Given the description of an element on the screen output the (x, y) to click on. 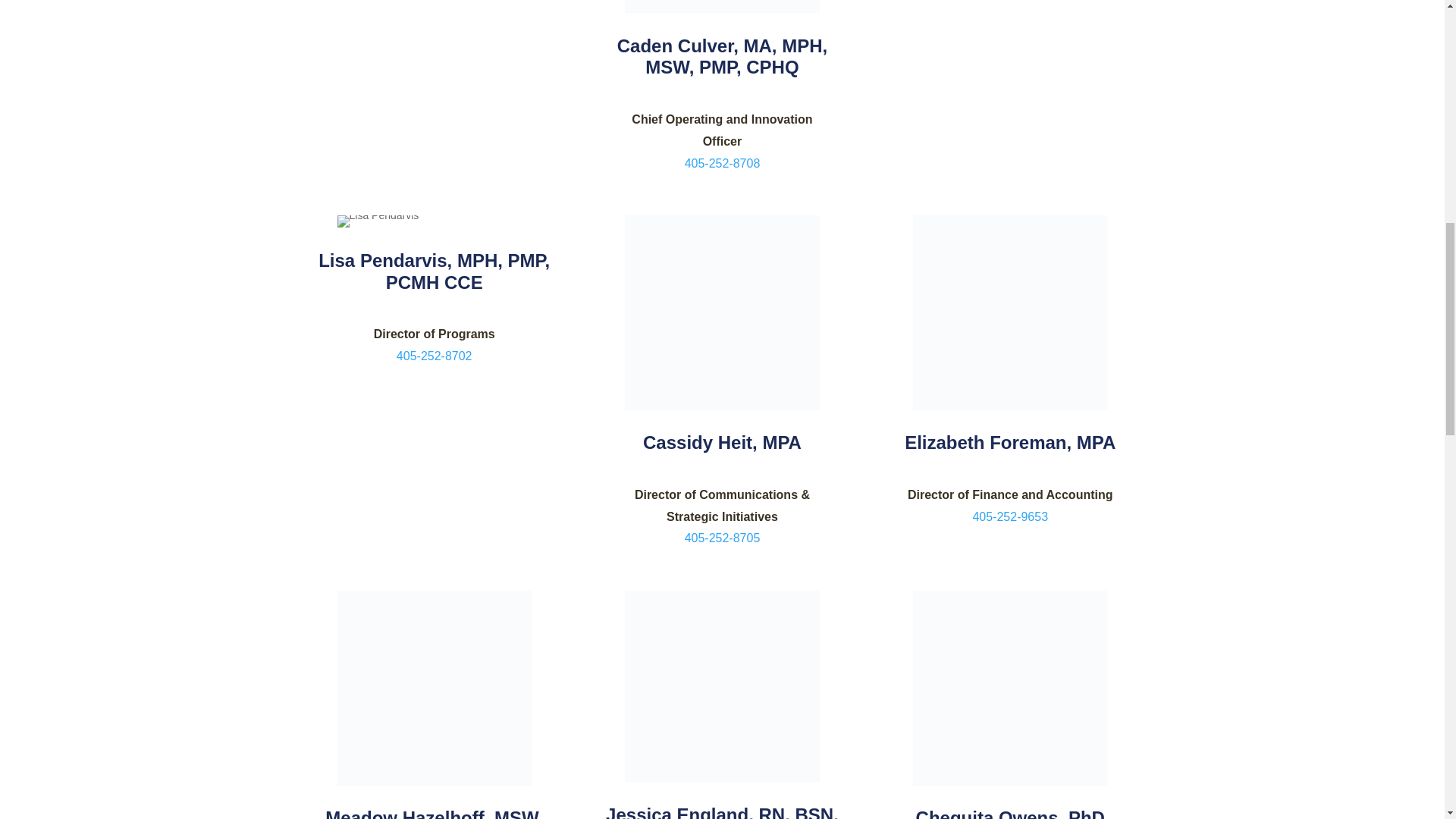
Meadow-Hazelhoff (434, 687)
Jessica England, RN, BSN, PCMH CCE (721, 811)
Elizabeth-Foreman (1009, 312)
Caden Culver, MA, MPH, MSW, PMP, CPHQ (722, 56)
Cassidy Heit, MPA (722, 442)
Lisa Pendarvis, MPH, PMP, PCMH CCE (434, 271)
405-252-9653 (1010, 516)
405-252-8705 (722, 537)
Lisa-Pendarvis (378, 221)
Elizabeth Foreman, MPA (1009, 442)
